Given the description of an element on the screen output the (x, y) to click on. 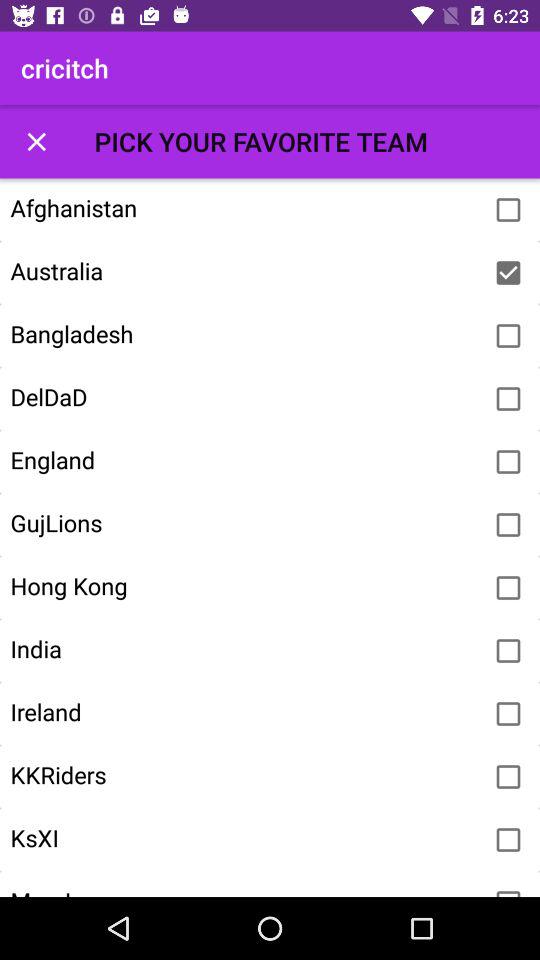
check (508, 714)
